Given the description of an element on the screen output the (x, y) to click on. 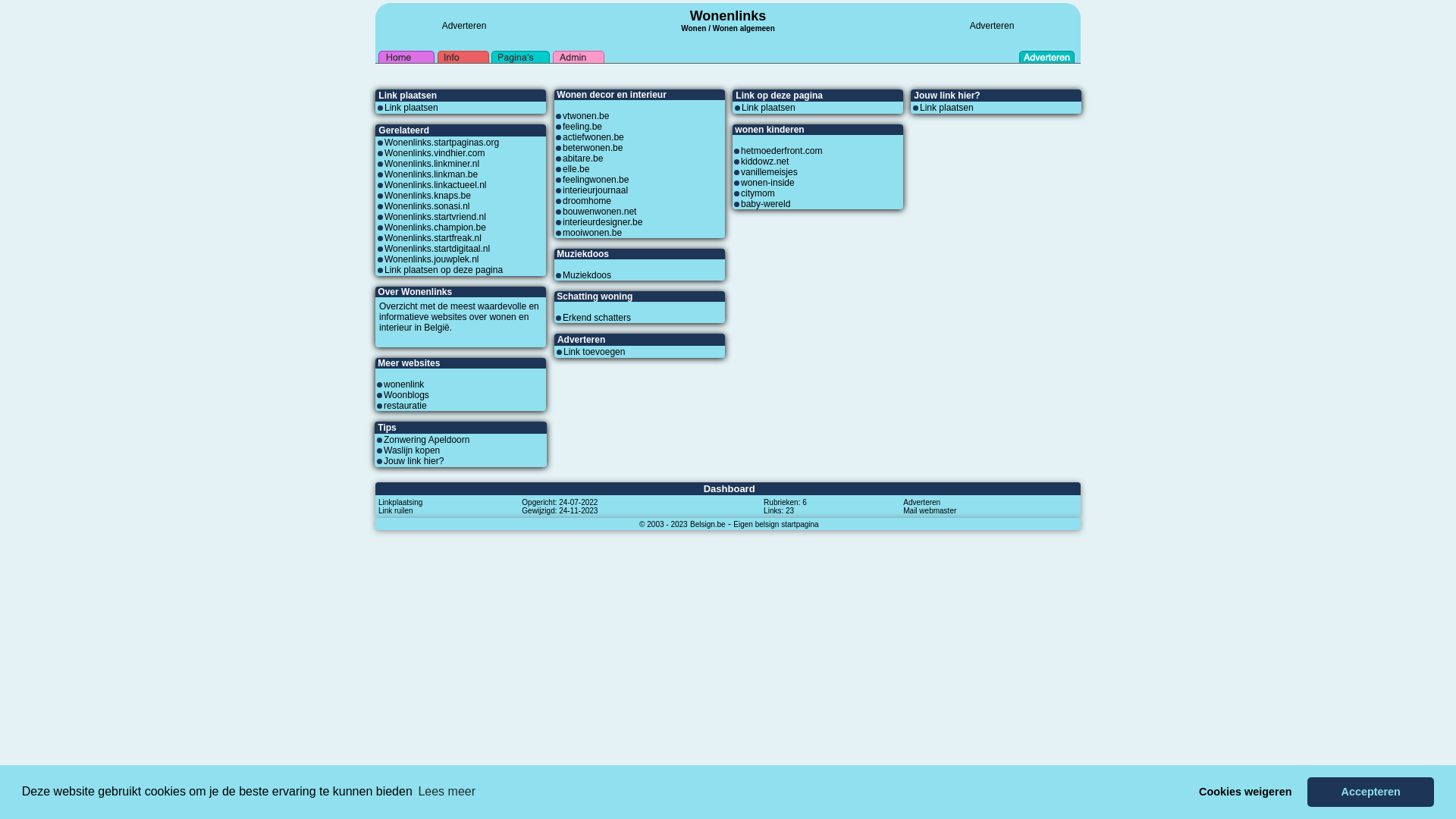
Link toevoegen Element type: text (593, 351)
Lees meer Element type: text (446, 791)
beterwonen.be Element type: text (592, 147)
wonenlink Element type: text (403, 384)
Wonenlinks.knaps.be Element type: text (427, 195)
Wonenlinks.jouwplek.nl Element type: text (431, 259)
interieurjournaal Element type: text (594, 190)
Wonenlinks Element type: text (728, 15)
Jouw link hier? Element type: text (413, 460)
Zonwering Apeldoorn Element type: text (426, 439)
citymom Element type: text (757, 193)
hetmoederfront.com Element type: text (781, 150)
Link ruilen Element type: text (395, 510)
bouwenwonen.net Element type: text (599, 211)
Link plaatsen Element type: text (946, 107)
Link plaatsen Element type: text (411, 107)
Wonenlinks.linkman.be Element type: text (430, 174)
mooiwonen.be Element type: text (591, 232)
kiddowz.net Element type: text (764, 161)
Eigen belsign startpagina Element type: text (775, 523)
Link plaatsen op deze pagina Element type: text (443, 269)
baby-wereld Element type: text (765, 203)
abitare.be Element type: text (582, 158)
Belsign.be Element type: text (707, 523)
droomhome Element type: text (586, 200)
interieurdesigner.be Element type: text (602, 221)
actiefwonen.be Element type: text (593, 136)
Waslijn kopen Element type: text (411, 450)
Link plaatsen Element type: text (768, 107)
Wonen algemeen Element type: text (743, 28)
Wonenlinks.startvriend.nl Element type: text (435, 216)
feelingwonen.be Element type: text (595, 179)
Erkend schatters Element type: text (596, 317)
Wonenlinks.champion.be Element type: text (435, 227)
Wonen Element type: text (693, 26)
feeling.be Element type: text (582, 126)
Muziekdoos Element type: text (586, 274)
Wonenlinks.startdigitaal.nl Element type: text (436, 248)
Mail webmaster Element type: text (929, 510)
Wonenlinks.vindhier.com Element type: text (434, 152)
Adverteren Element type: text (991, 25)
Linkplaatsing Element type: text (400, 501)
Wonenlinks.startfreak.nl Element type: text (432, 237)
wonen-inside Element type: text (767, 182)
vtwonen.be Element type: text (585, 115)
Cookies weigeren Element type: text (1245, 791)
Wonenlinks.sonasi.nl Element type: text (427, 205)
Wonenlinks.startpaginas.org Element type: text (441, 142)
Adverteren Element type: text (921, 501)
elle.be Element type: text (575, 168)
restauratie Element type: text (404, 405)
Accepteren Element type: text (1370, 791)
Adverteren Element type: text (464, 25)
Wonenlinks.linkactueel.nl Element type: text (435, 184)
Woonblogs Element type: text (406, 394)
vanillemeisjes Element type: text (768, 171)
Wonenlinks.linkminer.nl Element type: text (431, 163)
